Given the description of an element on the screen output the (x, y) to click on. 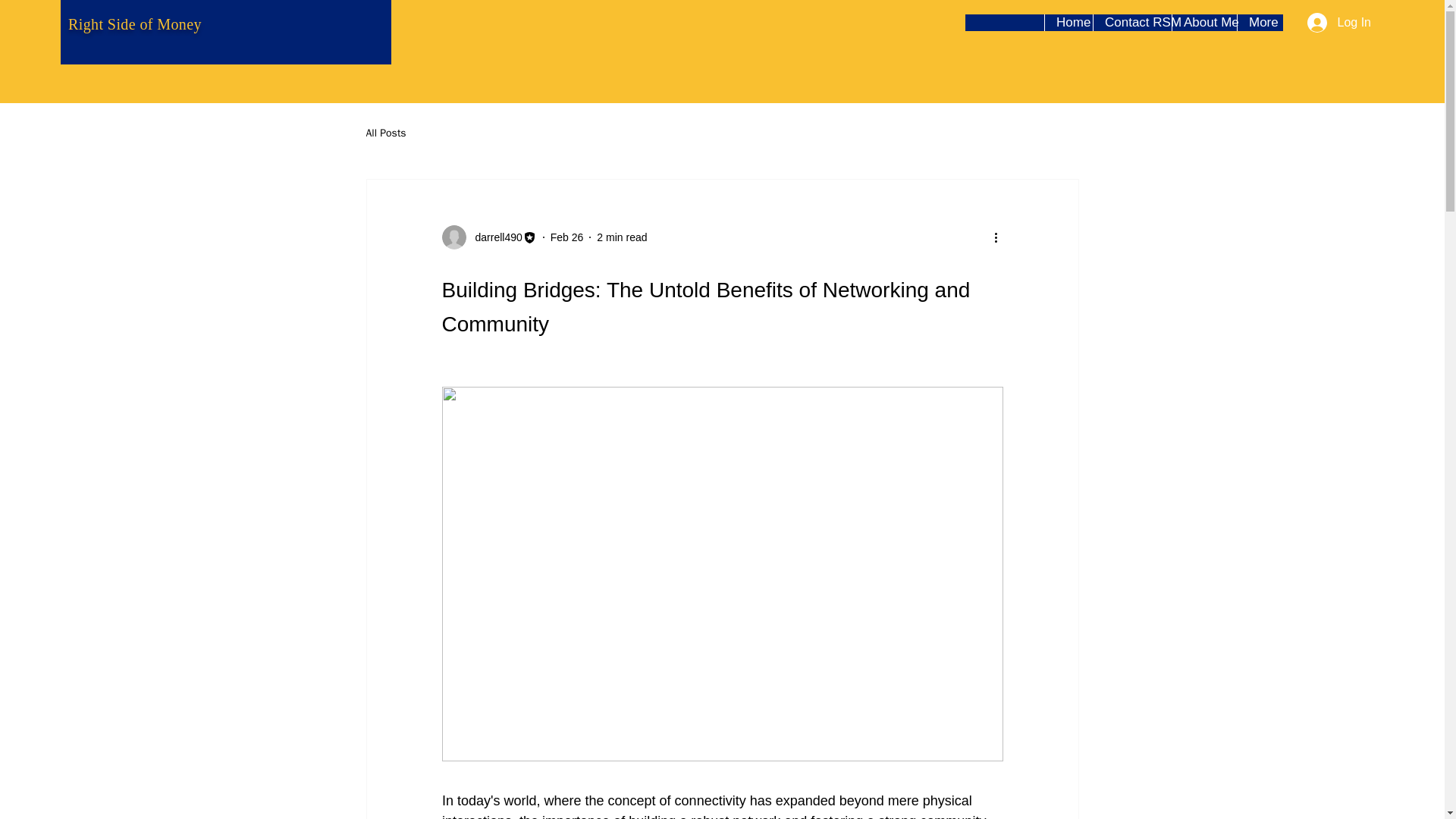
Home (1068, 22)
darrell490 (493, 236)
Right Side of Money (135, 23)
Log In (1339, 22)
All Posts (385, 133)
Contact RSM (1132, 22)
About Me (1204, 22)
darrell490 (488, 237)
2 min read (621, 236)
Feb 26 (566, 236)
